Given the description of an element on the screen output the (x, y) to click on. 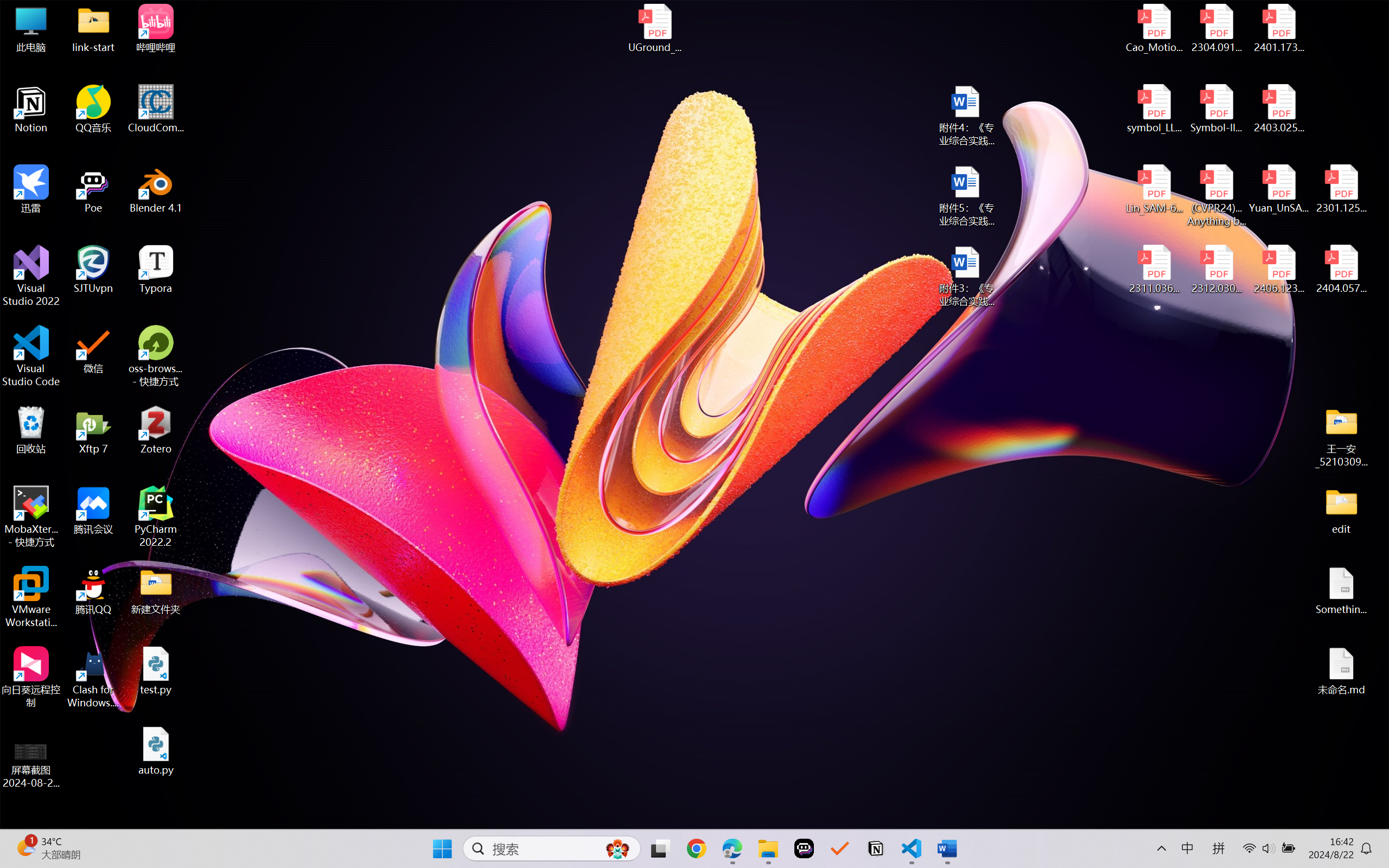
Visual Studio Code (31, 355)
VMware Workstation Pro (31, 597)
SJTUvpn (93, 269)
symbol_LLM.pdf (1154, 109)
Visual Studio 2022 (31, 276)
CloudCompare (156, 109)
